Given the description of an element on the screen output the (x, y) to click on. 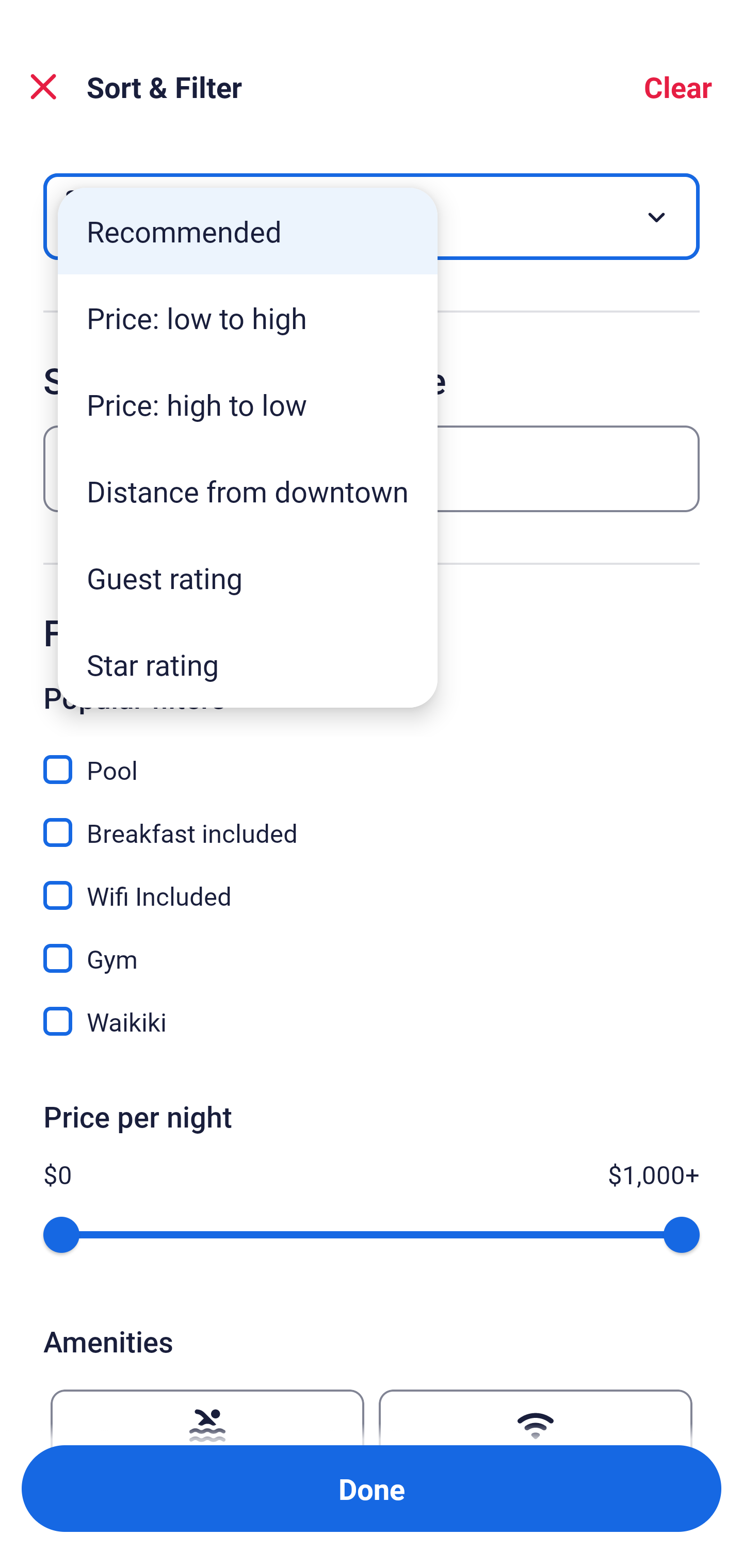
Price: low to high (247, 317)
Price: high to low (247, 404)
Distance from downtown (247, 491)
Guest rating (247, 577)
Star rating (247, 663)
